Given the description of an element on the screen output the (x, y) to click on. 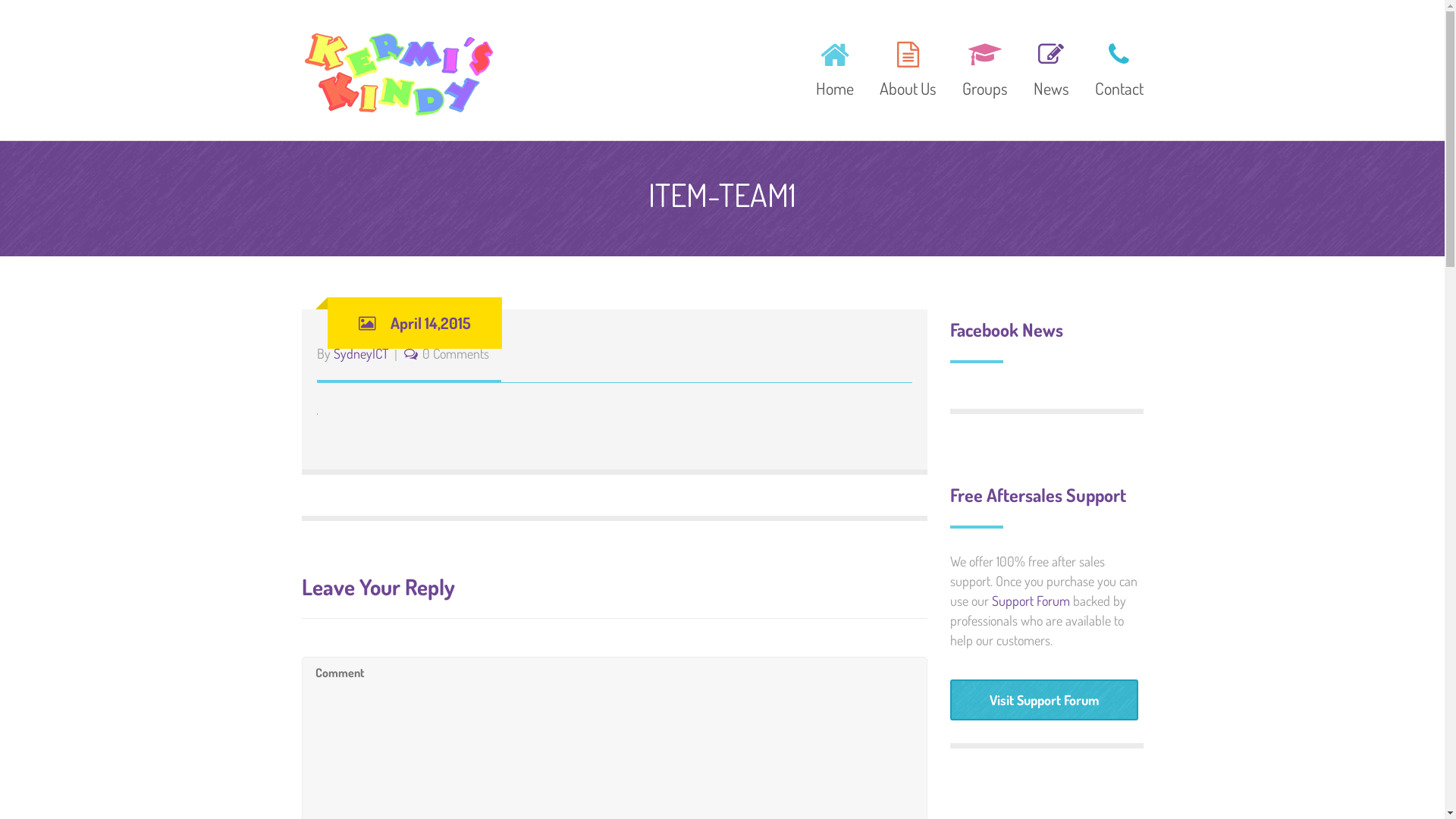
Visit Support Forum Element type: text (1043, 699)
Support Forum Element type: text (1030, 600)
0 Comments Element type: text (454, 353)
SydneyICT Element type: text (361, 353)
About Us Element type: text (907, 66)
News Element type: text (1051, 66)
Home Element type: text (833, 66)
Contact Element type: text (1112, 66)
Groups Element type: text (984, 66)
